Given the description of an element on the screen output the (x, y) to click on. 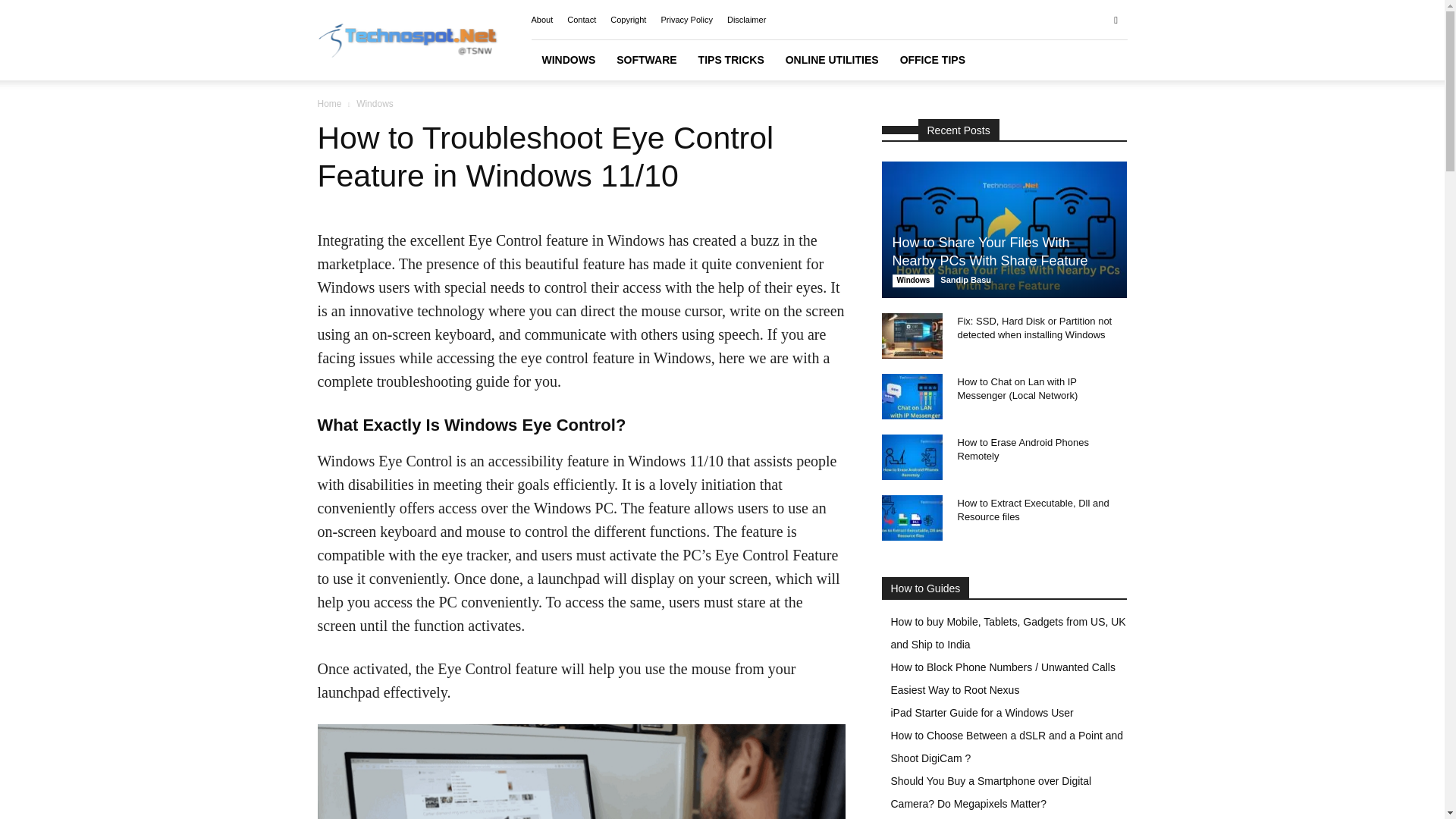
OFFICE TIPS (932, 60)
How to Share Your Files With Nearby PCs With Share Feature (989, 251)
SOFTWARE (646, 60)
Technospot.Net (407, 40)
Free Productive Software (646, 60)
Windows (912, 280)
TIPS TRICKS (730, 60)
Copyright (628, 19)
About (542, 19)
